Given the description of an element on the screen output the (x, y) to click on. 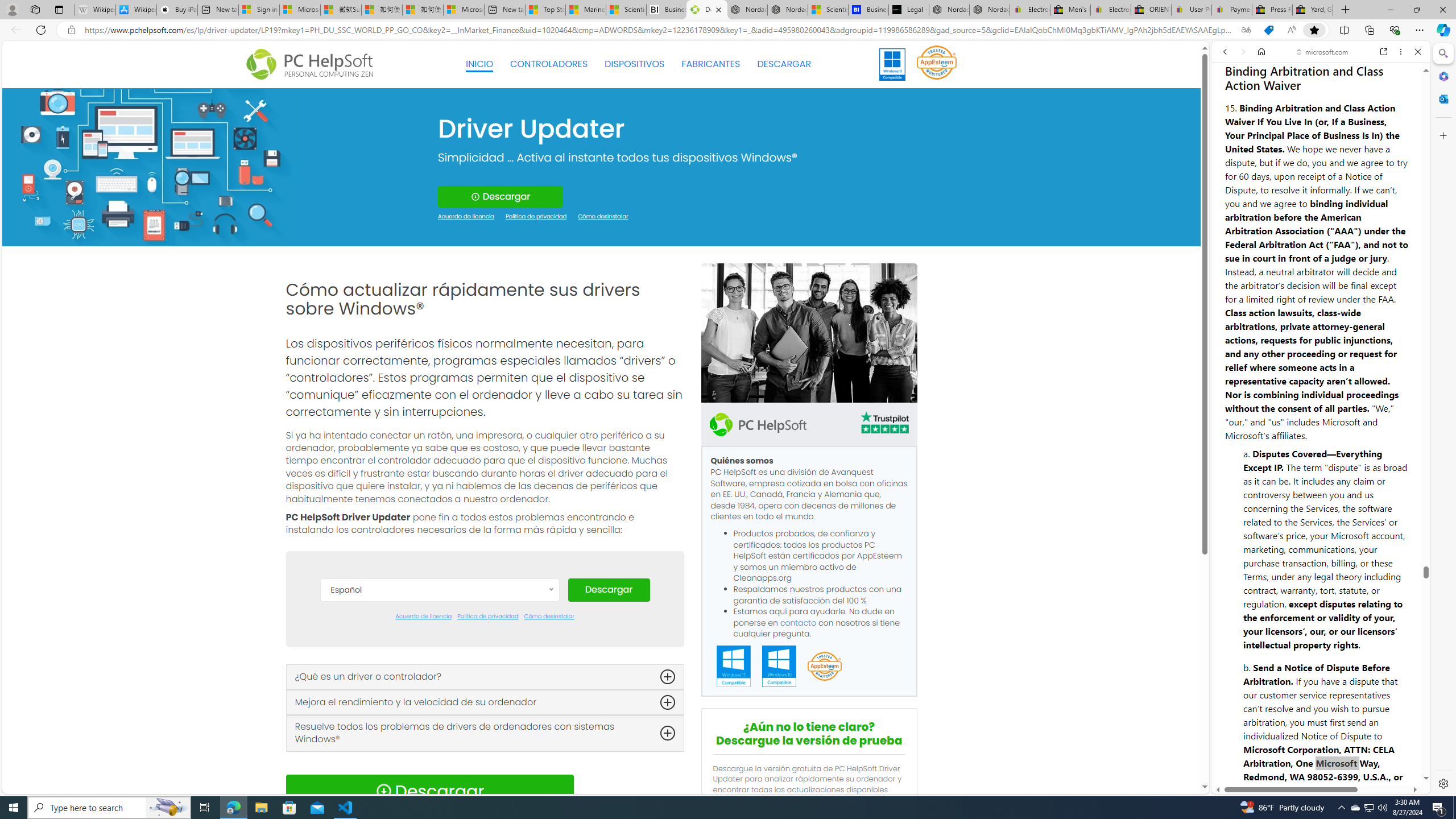
App Esteem (823, 666)
Marine life - MSN (585, 9)
Italiano (439, 746)
DISPOSITIVOS (634, 64)
Windows 10 Compatible (778, 666)
contacto (798, 622)
DESCARGAR (783, 64)
TrustPilot (884, 424)
microsoft.com (1323, 51)
